Given the description of an element on the screen output the (x, y) to click on. 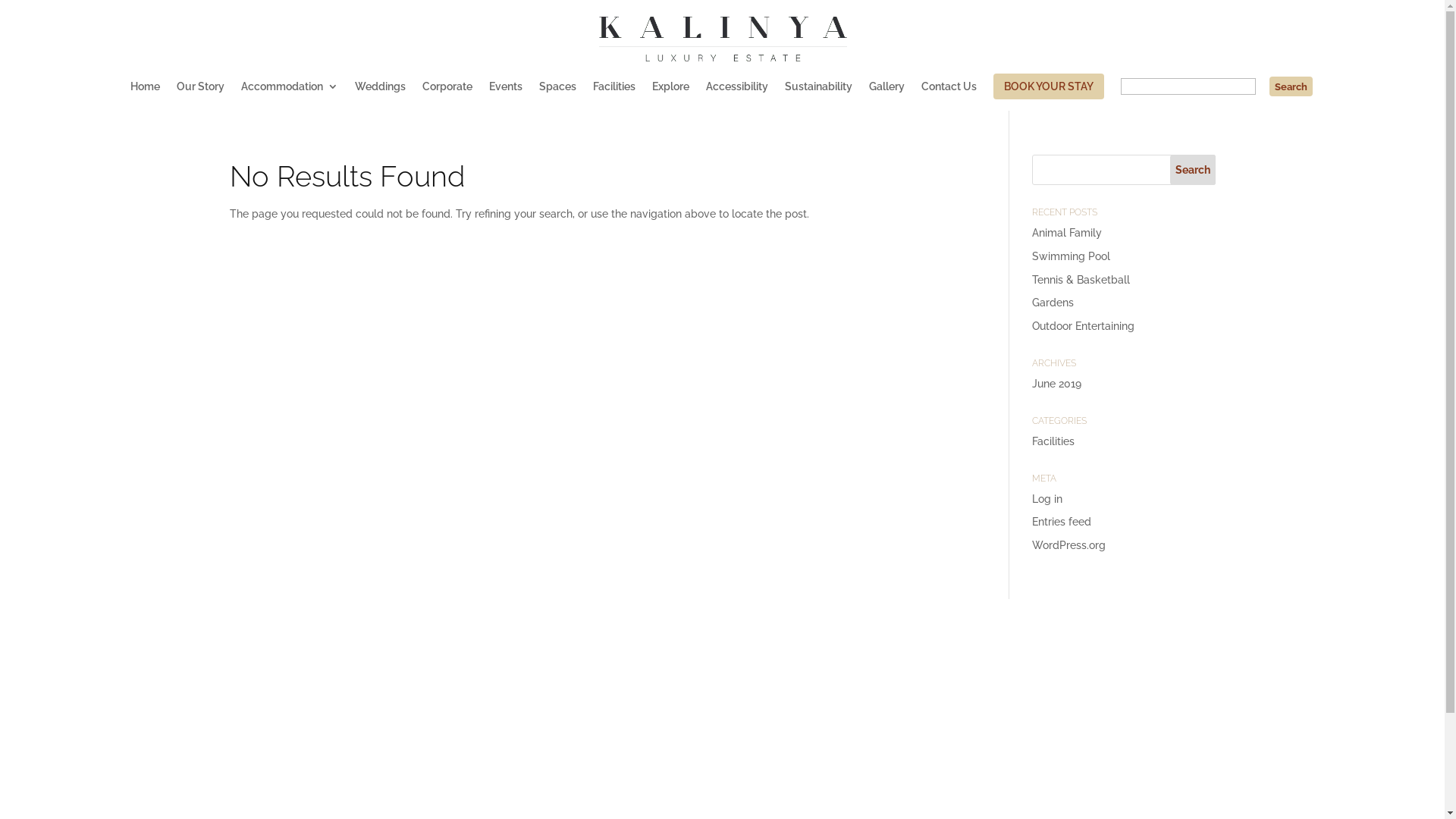
Facilities Element type: text (1053, 441)
Outdoor Entertaining Element type: text (1083, 326)
Search Element type: text (1290, 86)
Gallery Element type: text (886, 93)
Events Element type: text (505, 93)
Search Element type: text (1191, 169)
WordPress.org Element type: text (1068, 545)
June 2019 Element type: text (1056, 383)
Animal Family Element type: text (1066, 232)
Log in Element type: text (1047, 498)
Tennis & Basketball Element type: text (1080, 279)
Weddings Element type: text (379, 93)
Accommodation Element type: text (289, 93)
Entries feed Element type: text (1061, 521)
Facilities Element type: text (614, 93)
Swimming Pool Element type: text (1071, 256)
Explore Element type: text (670, 93)
BOOK YOUR STAY Element type: text (1048, 86)
Our Story Element type: text (200, 93)
Accessibility Element type: text (737, 93)
Corporate Element type: text (447, 93)
Sustainability Element type: text (818, 93)
Search for: Element type: text (1216, 94)
Spaces Element type: text (557, 93)
Home Element type: text (145, 93)
Contact Us Element type: text (948, 93)
Gardens Element type: text (1052, 302)
